Given the description of an element on the screen output the (x, y) to click on. 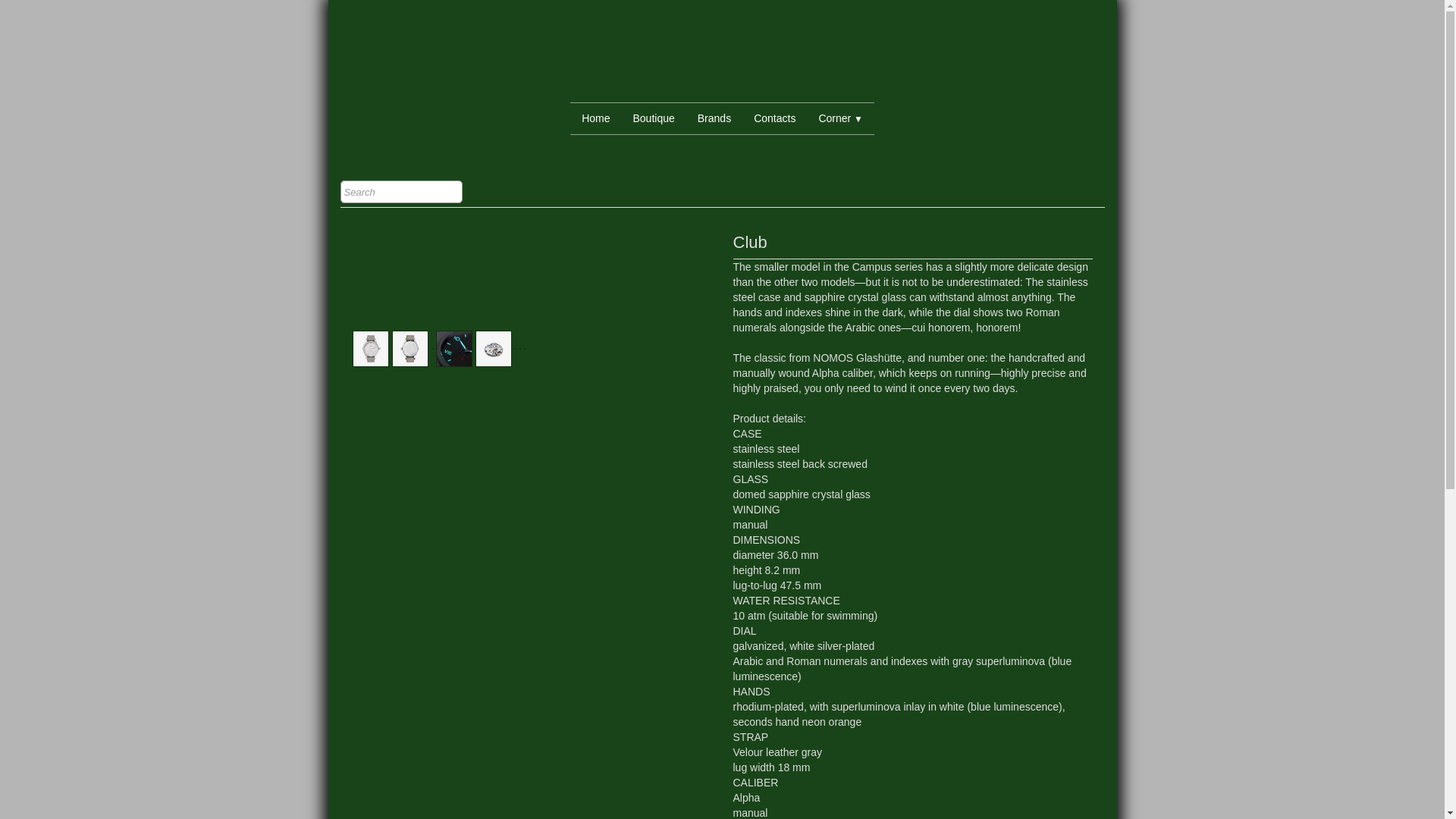
Brands (713, 118)
Cart (1083, 193)
Boutique (653, 118)
Home (595, 118)
Contacts (774, 118)
